Given the description of an element on the screen output the (x, y) to click on. 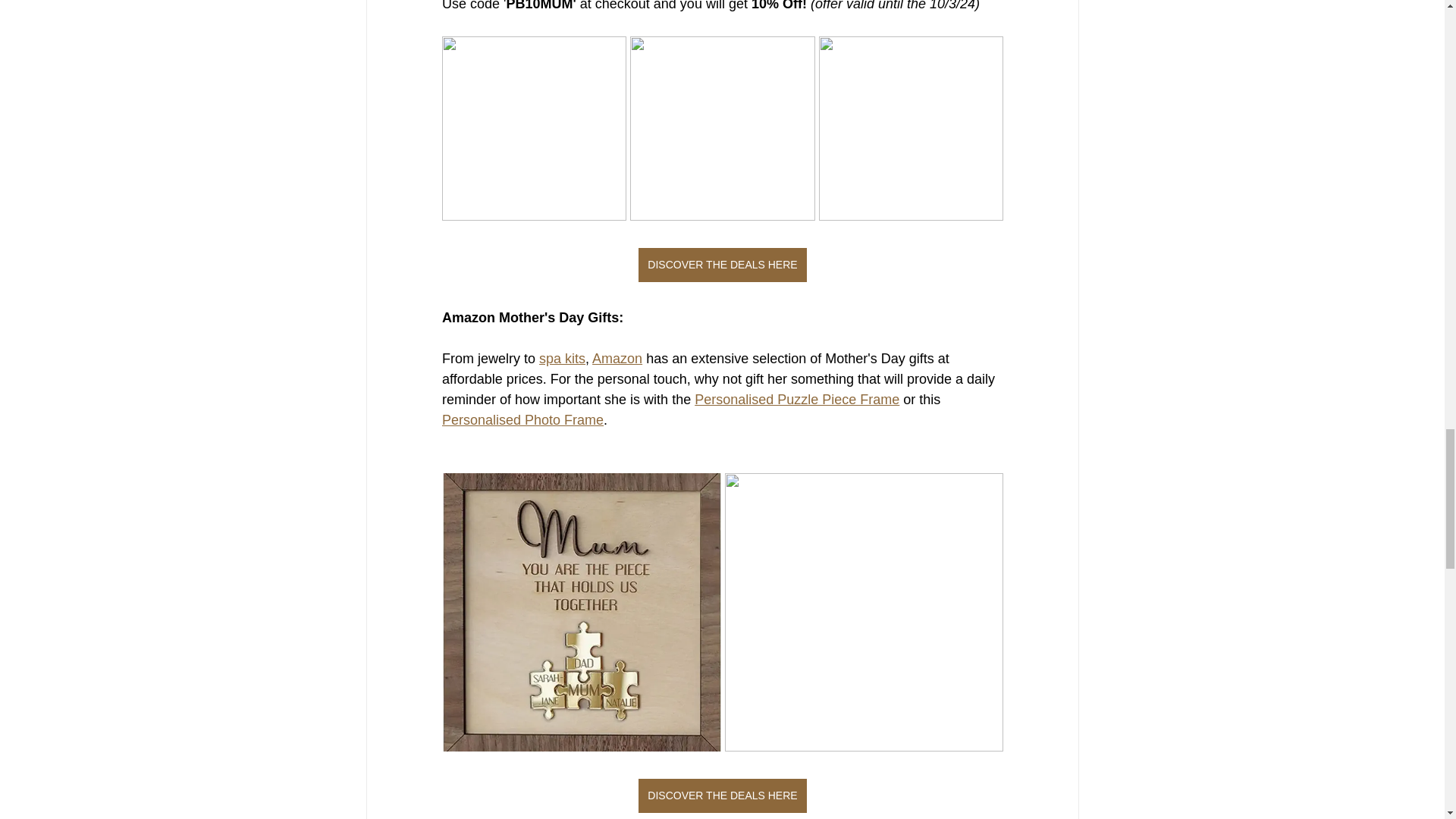
Amazon (617, 358)
DISCOVER THE DEALS HERE (722, 264)
spa kits (561, 358)
Personalised Puzzle Piece Frame (796, 399)
Personalised Photo Frame (521, 419)
DISCOVER THE DEALS HERE (722, 795)
